Given the description of an element on the screen output the (x, y) to click on. 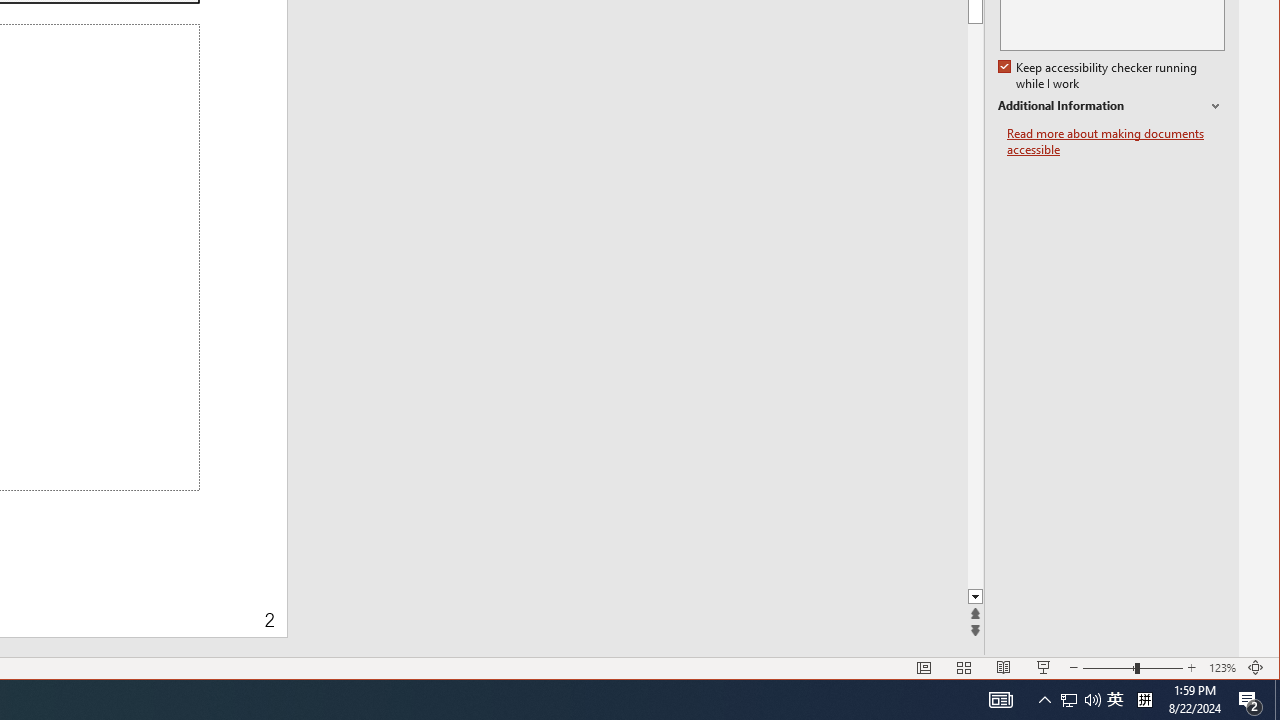
Action Center, 2 new notifications (1250, 699)
Keep accessibility checker running while I work (1099, 76)
Additional Information (1111, 106)
Read more about making documents accessible (1115, 142)
Zoom 123% (1222, 668)
